Given the description of an element on the screen output the (x, y) to click on. 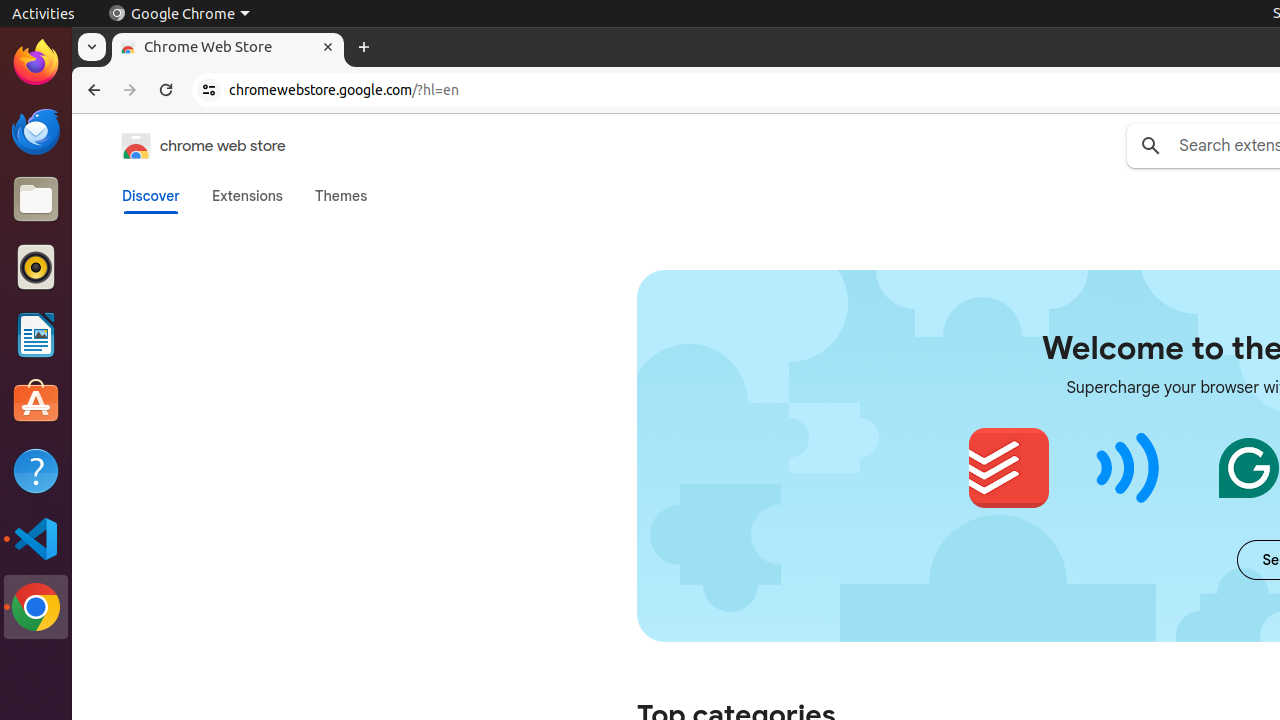
Ubuntu Software Element type: push-button (36, 402)
New Tab Element type: push-button (364, 47)
Extensions Element type: page-tab (247, 196)
Visual Studio Code Element type: push-button (36, 538)
View site information Element type: push-button (209, 90)
